Given the description of an element on the screen output the (x, y) to click on. 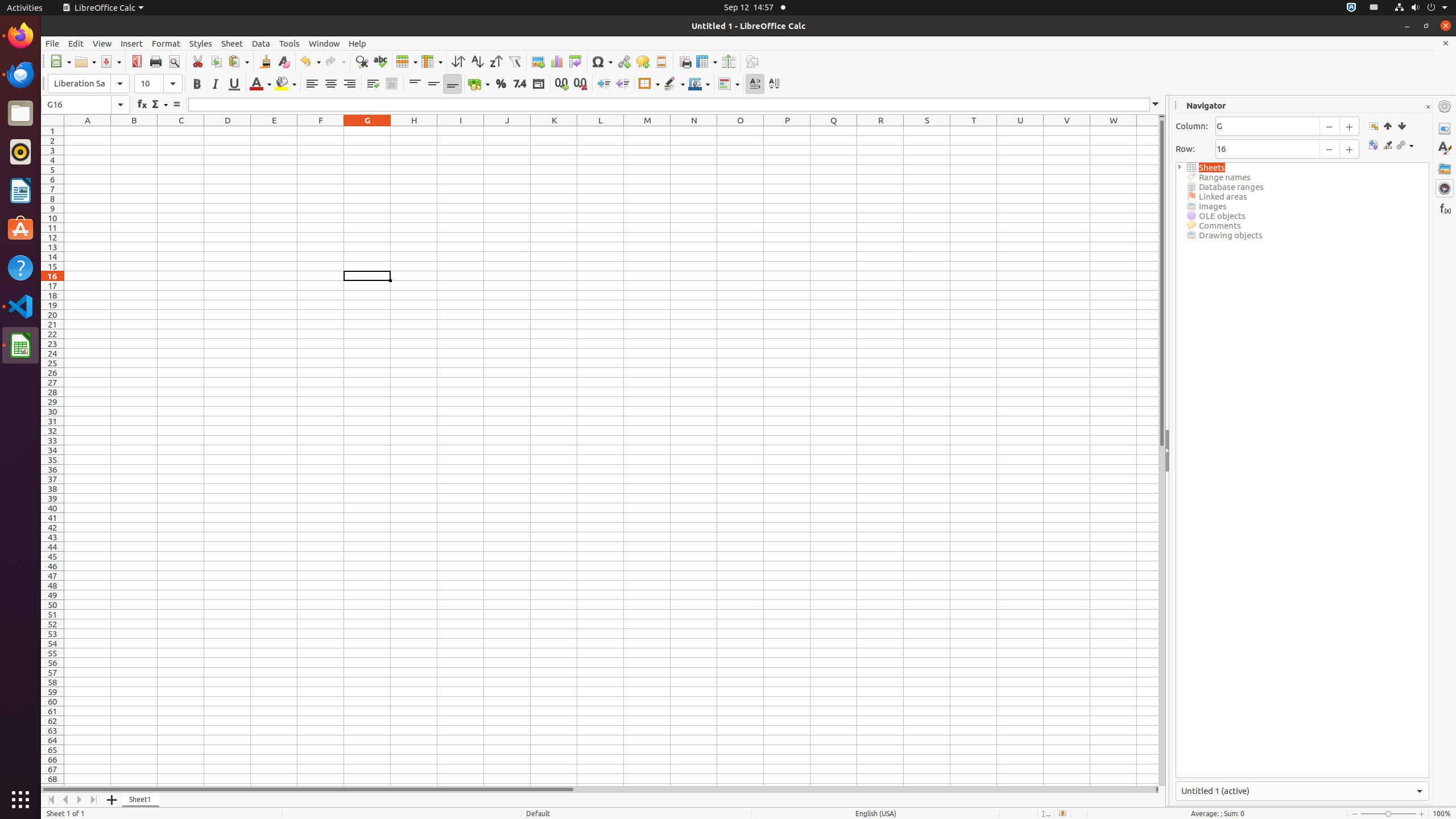
D1 Element type: table-cell (227, 130)
K1 Element type: table-cell (553, 130)
Clone Element type: push-button (264, 61)
Font Color Element type: push-button (260, 83)
Q1 Element type: table-cell (833, 130)
